Given the description of an element on the screen output the (x, y) to click on. 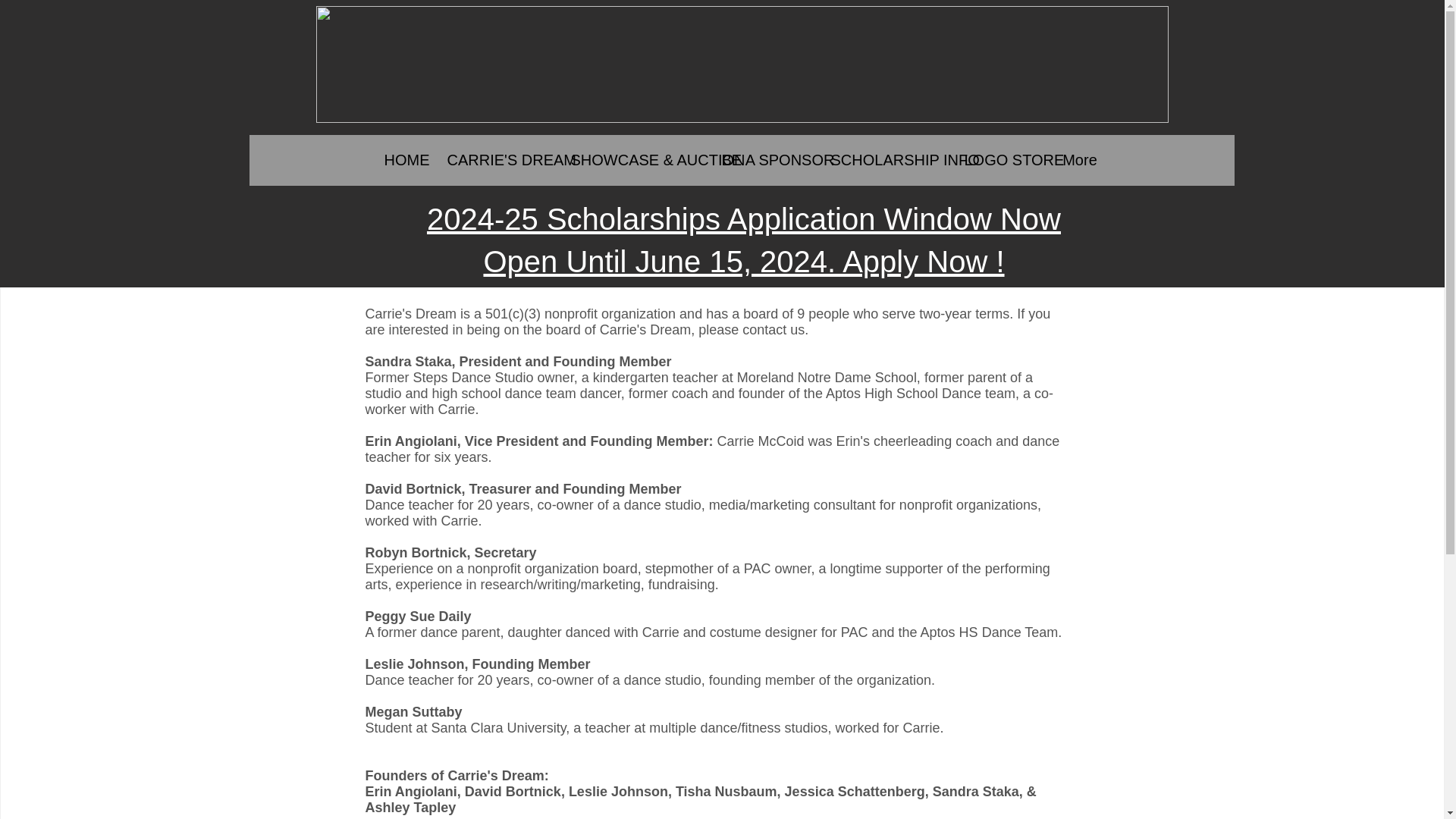
Carries wall BLACK ong.png (741, 63)
CARRIE'S DREAM (497, 159)
SCHOLARSHIP INFO (885, 159)
HOME (403, 159)
LOGO STORE (1000, 159)
BE A SPONSOR (764, 159)
